Given the description of an element on the screen output the (x, y) to click on. 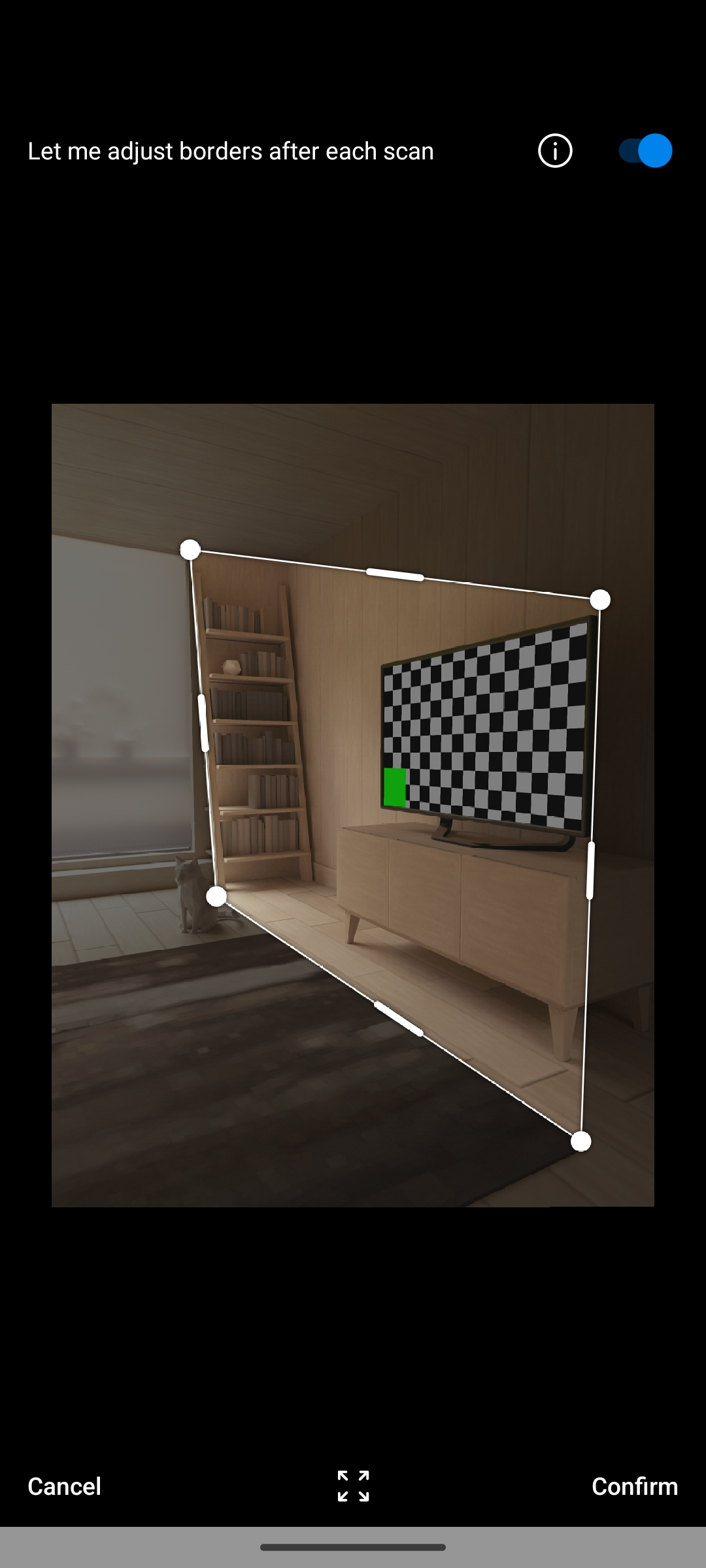
Information (554, 150)
Manual crop (636, 150)
Cancel (102, 1485)
Reset crop borders (352, 1485)
Confirm (602, 1485)
